Given the description of an element on the screen output the (x, y) to click on. 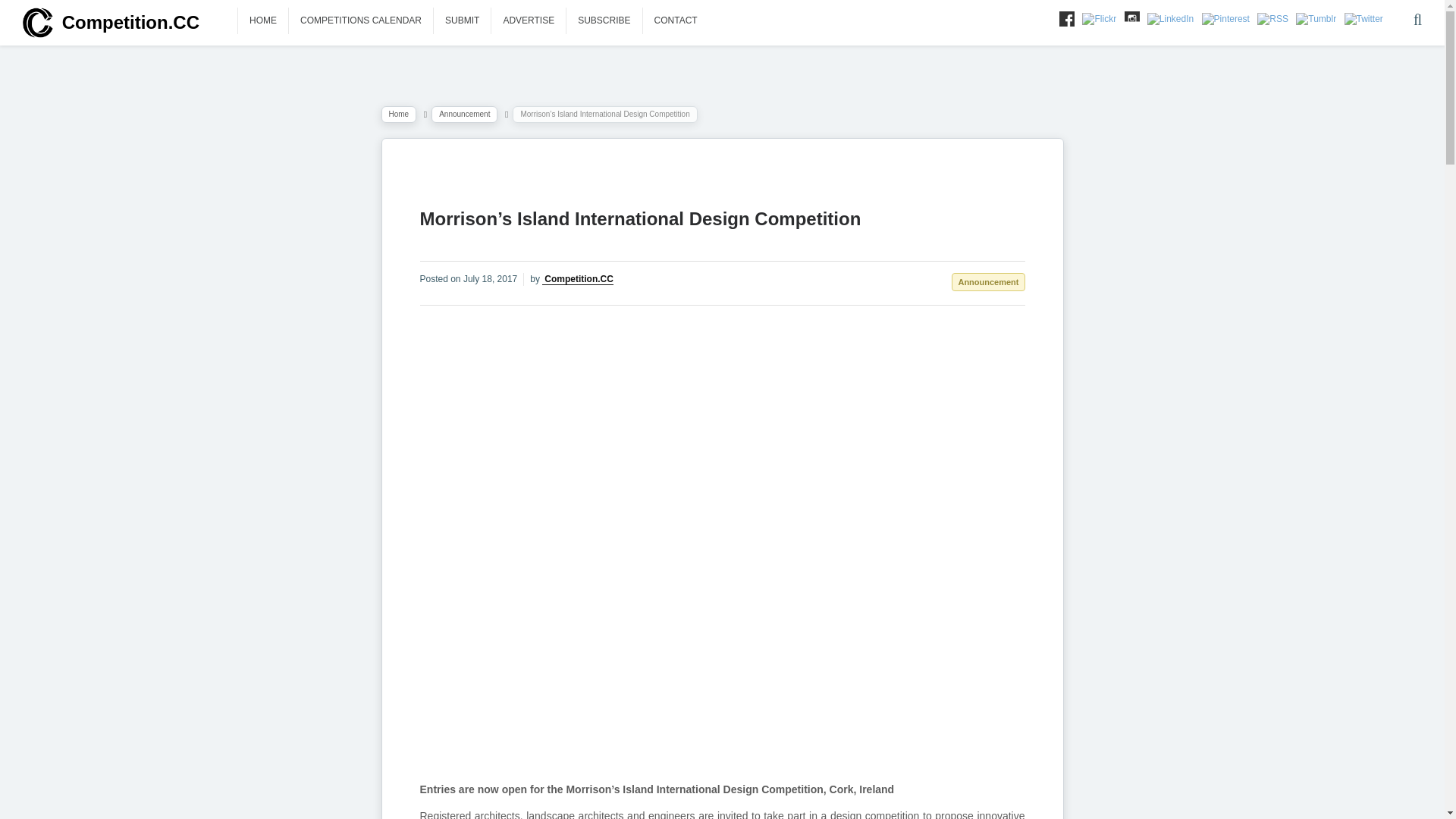
SUBSCRIBE (604, 20)
CONTACT (676, 20)
View all posts in Announcement (463, 114)
COMPETITIONS CALENDAR (360, 20)
Competition.CC (111, 20)
ADVERTISE (529, 20)
HOME (263, 20)
SUBMIT (461, 20)
